Given the description of an element on the screen output the (x, y) to click on. 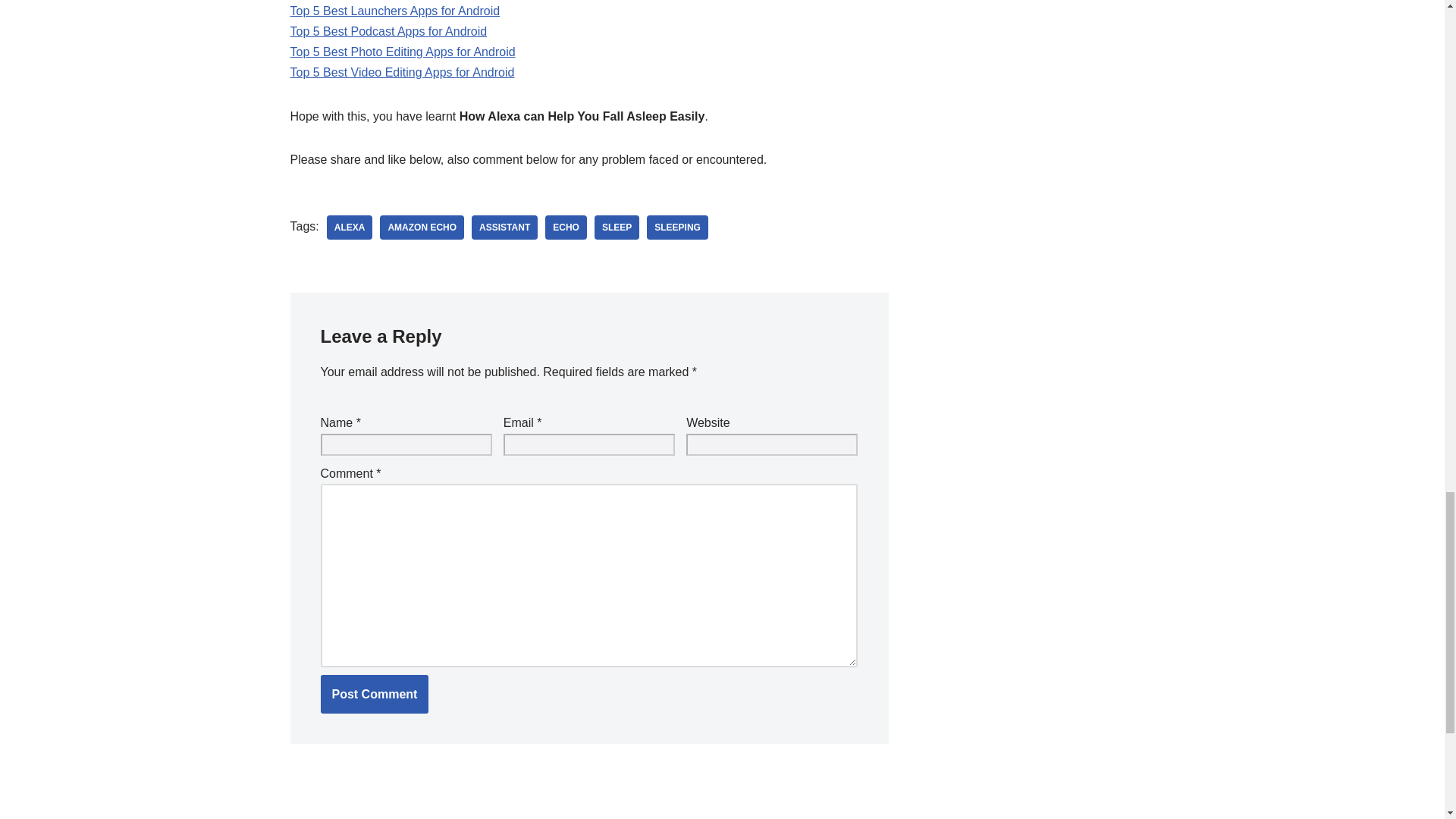
Alexa (349, 227)
Amazon Echo (422, 227)
Sleep (616, 227)
Top 5 Best Launchers Apps for Android (394, 10)
ALEXA (349, 227)
ASSISTANT (504, 227)
Top 5 Best Video Editing Apps for Android (401, 72)
Sleeping (676, 227)
Echo (565, 227)
Post Comment (374, 694)
